Given the description of an element on the screen output the (x, y) to click on. 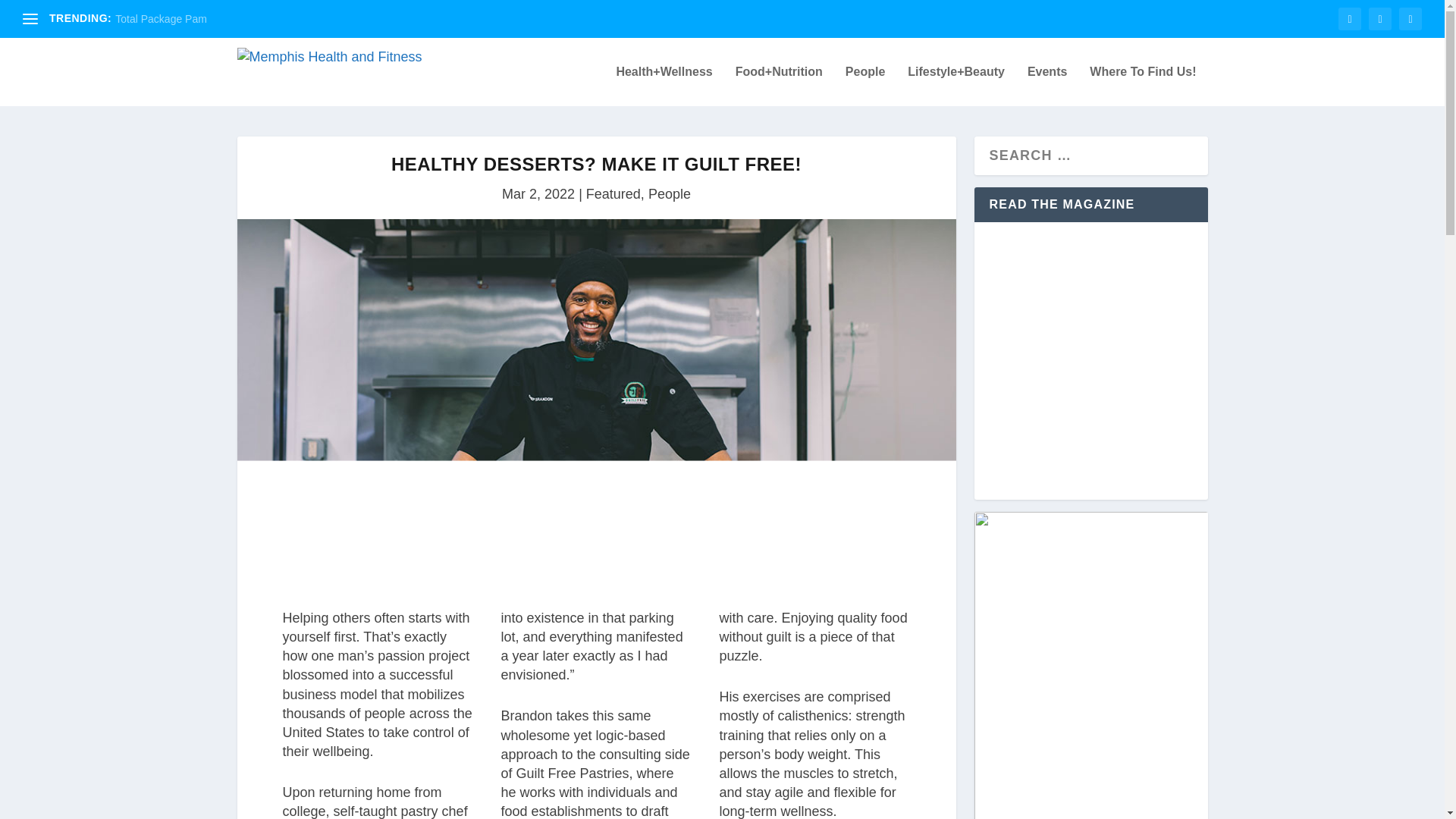
People (668, 193)
Events (1047, 86)
Where To Find Us! (1142, 86)
Total Package Pam (160, 19)
Featured (613, 193)
Search (37, 15)
People (865, 86)
